Given the description of an element on the screen output the (x, y) to click on. 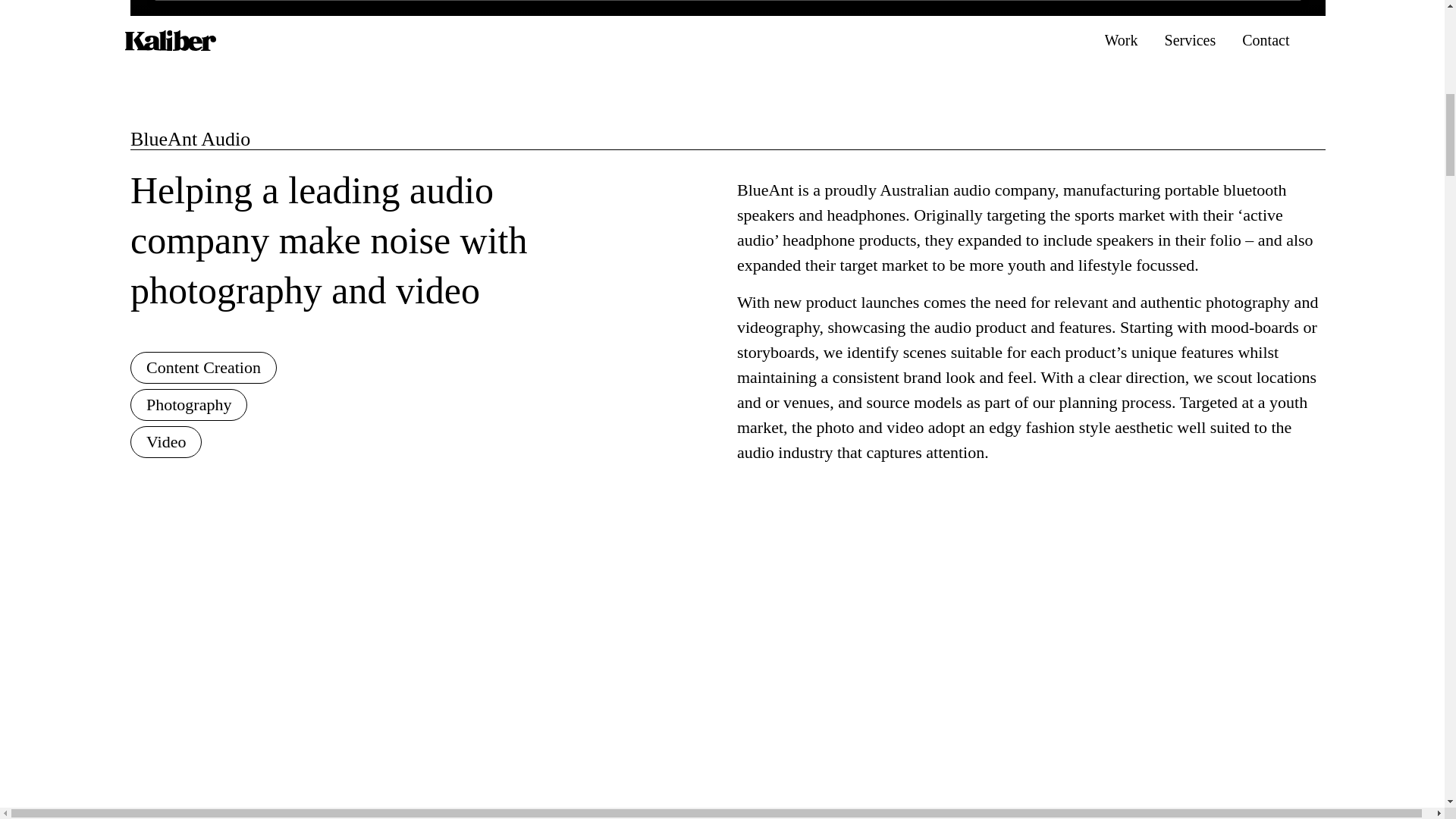
Video (166, 441)
Photography (189, 404)
Content Creation (203, 368)
